Given the description of an element on the screen output the (x, y) to click on. 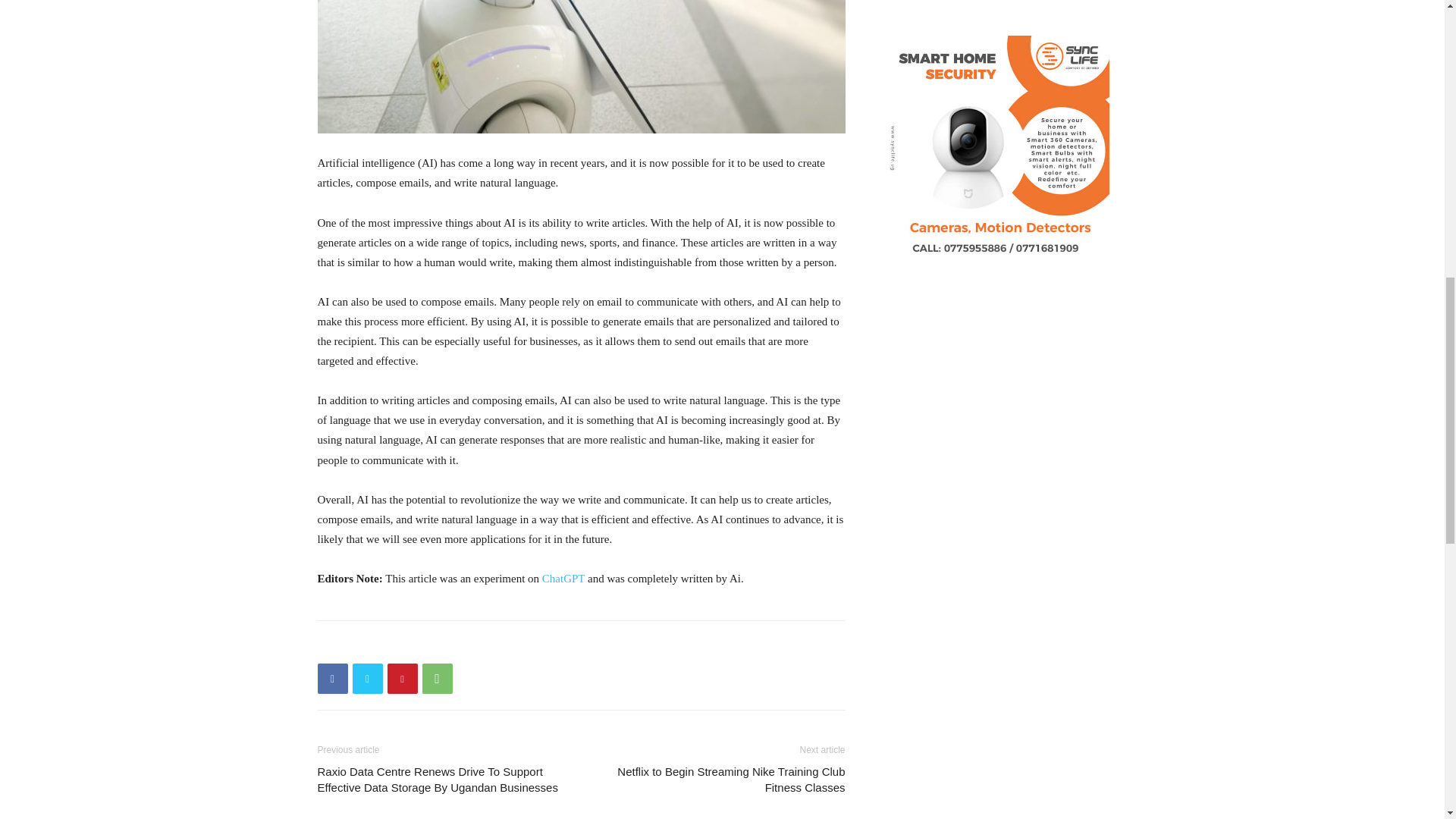
Facebook (332, 678)
bottomFacebookLike (430, 644)
Ai-robot (580, 66)
